Given the description of an element on the screen output the (x, y) to click on. 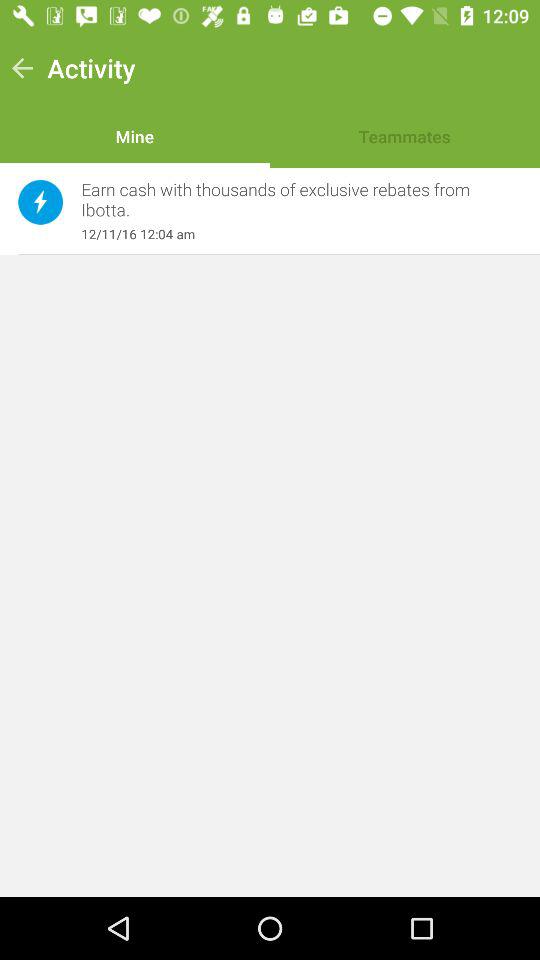
turn on the item to the left of activity icon (22, 67)
